Given the description of an element on the screen output the (x, y) to click on. 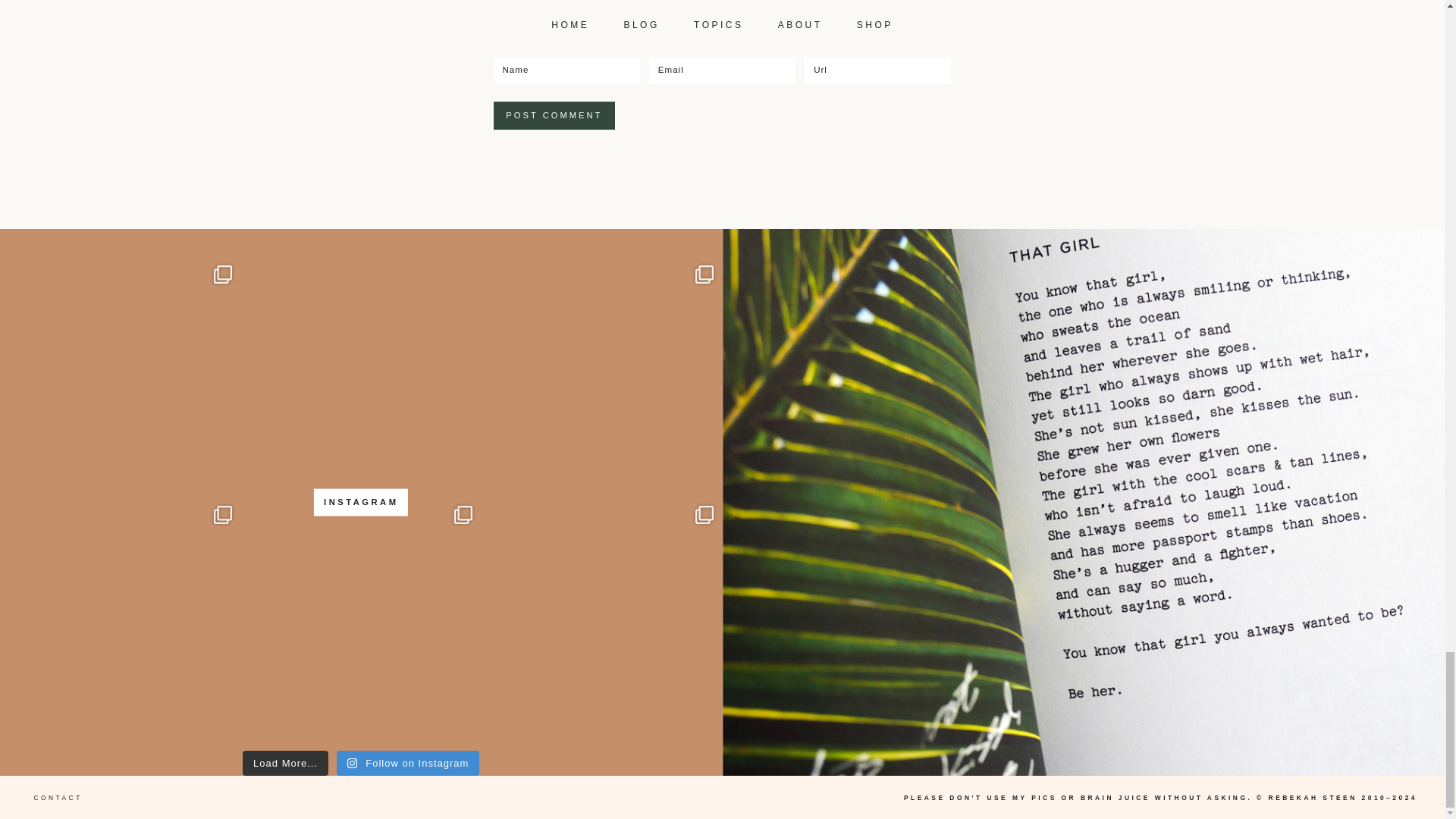
Post Comment (553, 115)
